Given the description of an element on the screen output the (x, y) to click on. 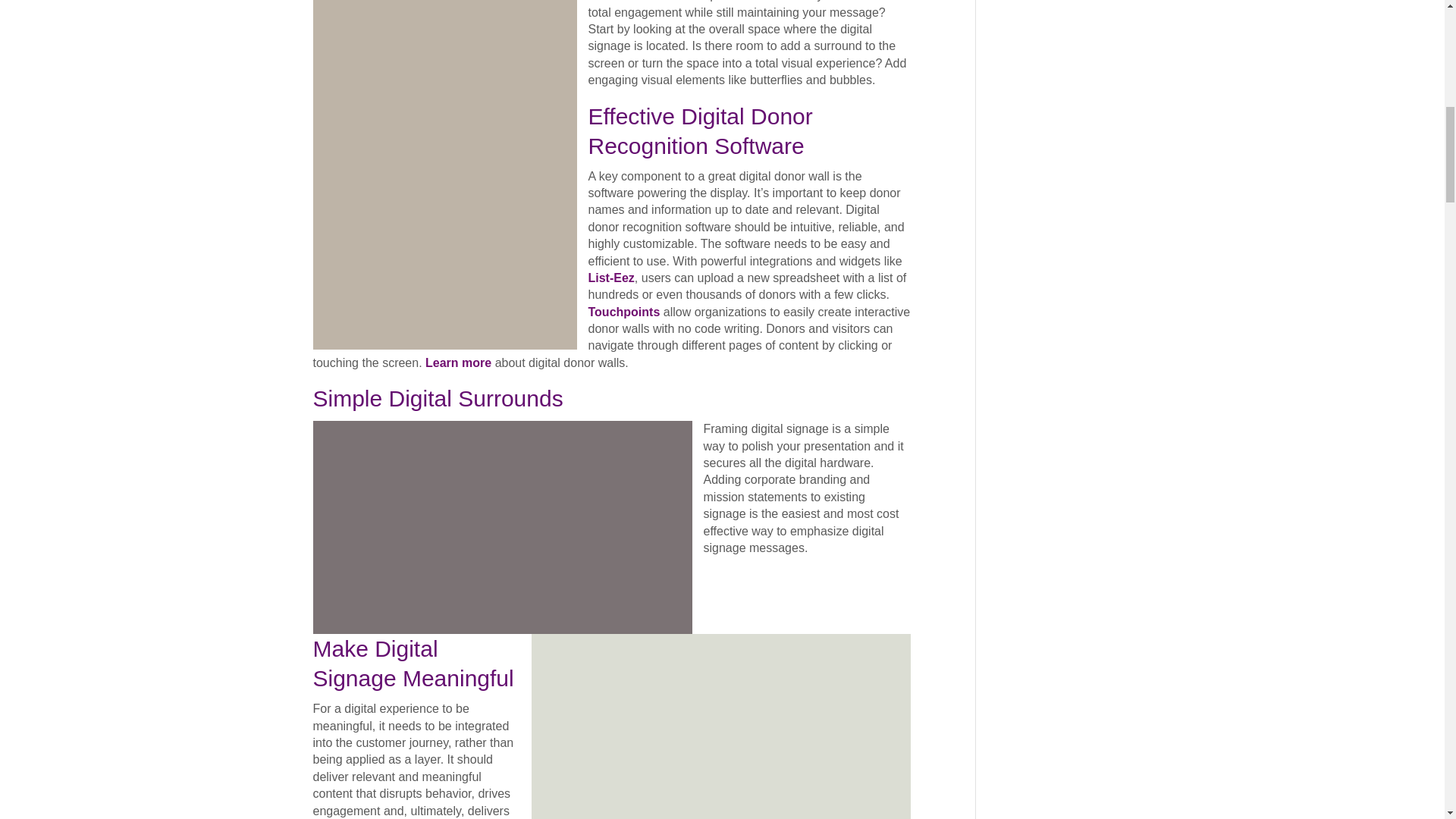
Learn more (458, 362)
Touchpoints (624, 311)
List-Eez (611, 277)
